Given the description of an element on the screen output the (x, y) to click on. 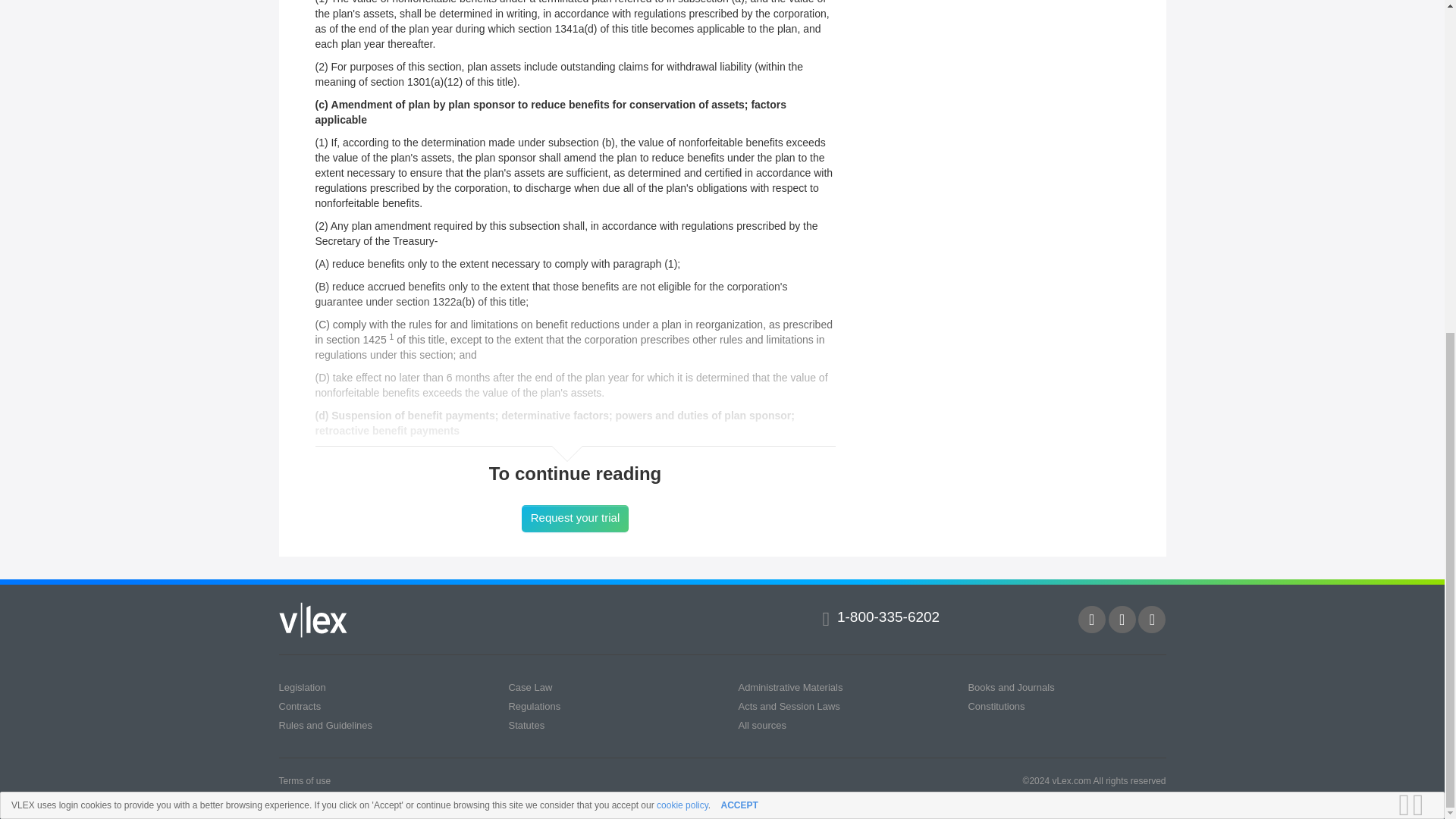
Terms of use (305, 780)
Case Law (529, 686)
Rules and Guidelines (325, 725)
All sources (762, 725)
Constitutions (996, 706)
Legislation (302, 686)
vLex (313, 619)
Acts and Session Laws (789, 706)
Case Law (529, 686)
ACCEPT (739, 249)
